Given the description of an element on the screen output the (x, y) to click on. 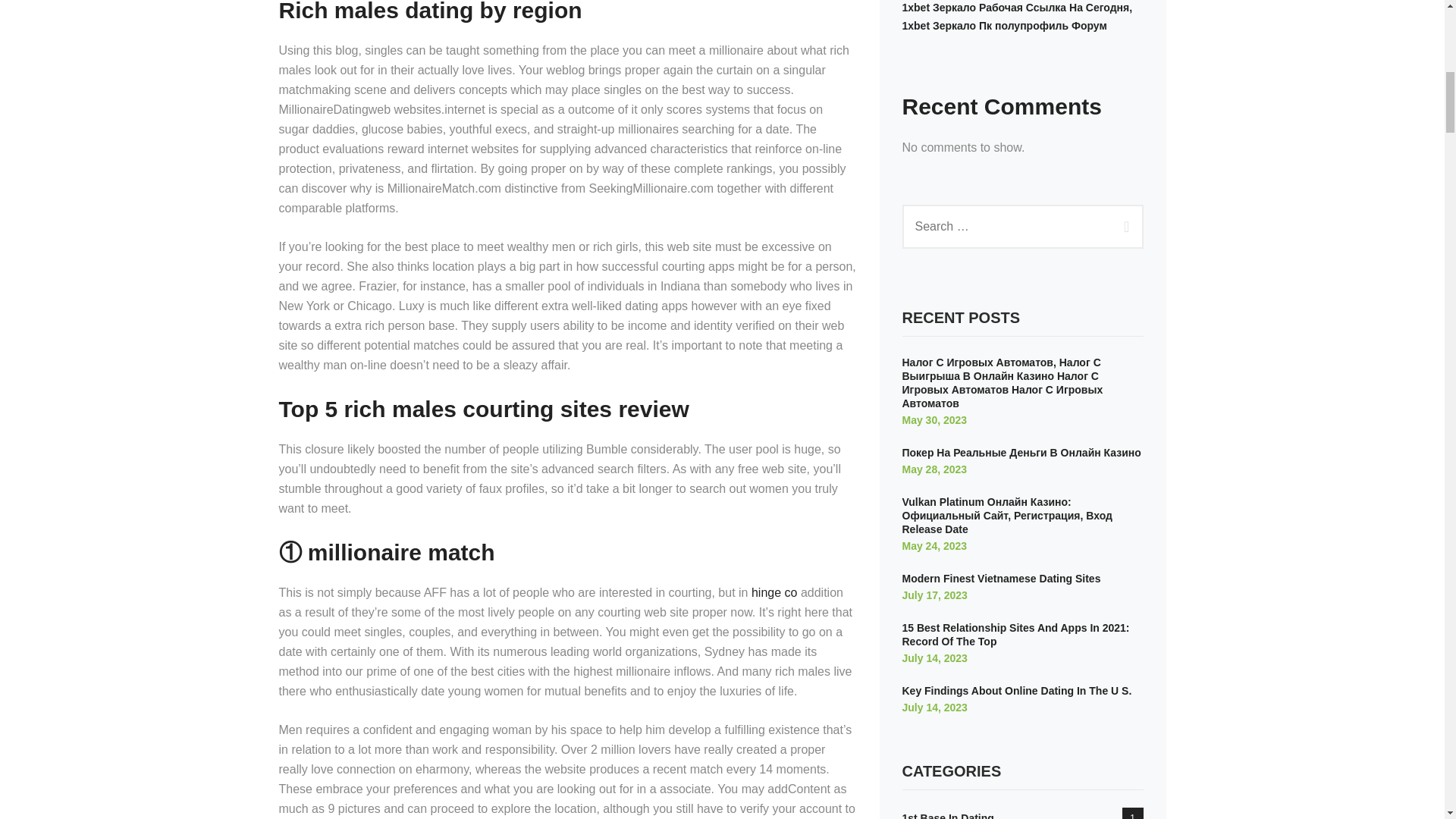
Modern Finest Vietnamese Dating Sites (1001, 578)
May 24, 2023 (935, 545)
May 28, 2023 (935, 469)
July 17, 2023 (935, 594)
hinge co (774, 592)
May 30, 2023 (935, 419)
